Given the description of an element on the screen output the (x, y) to click on. 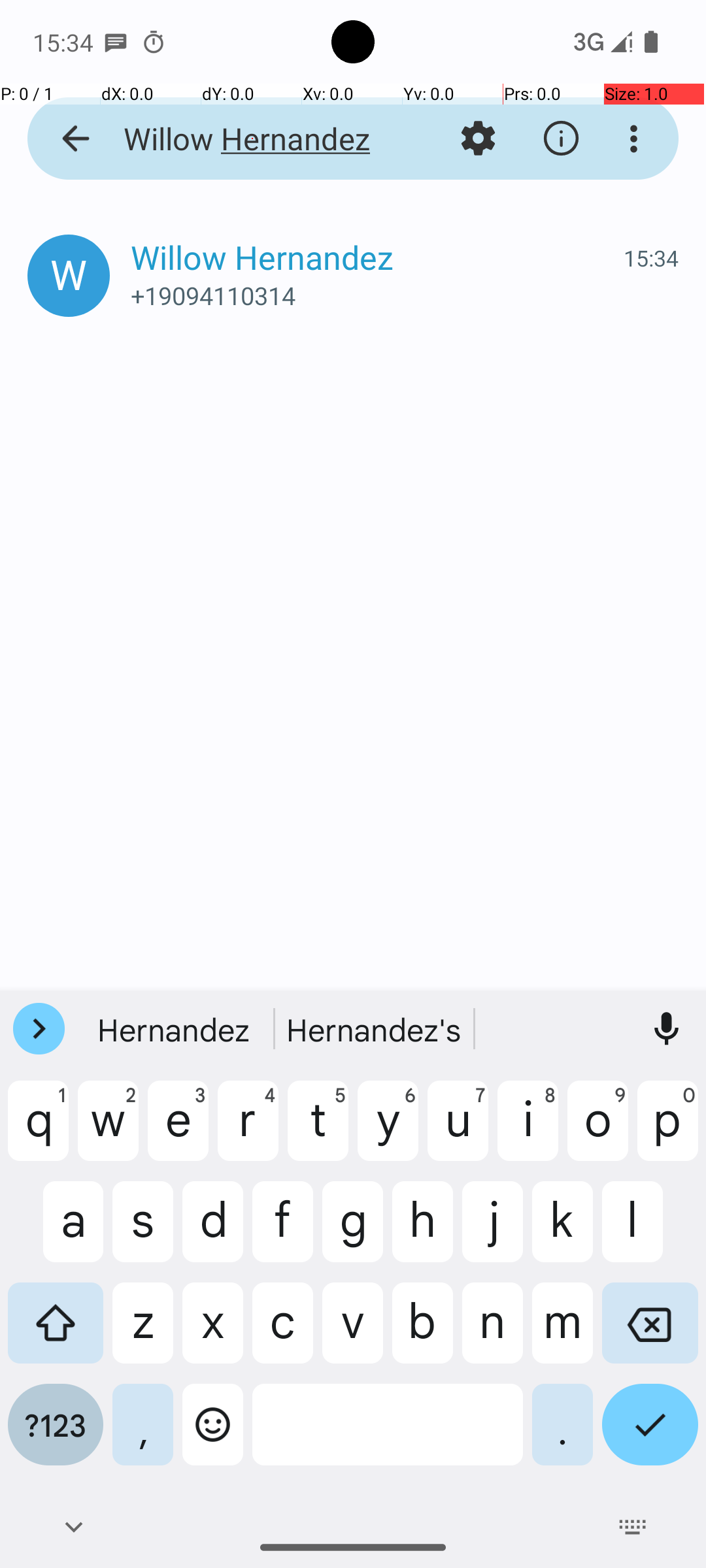
Willow Hernandez Element type: android.widget.EditText (252, 138)
+19094110314 Element type: android.widget.TextView (404, 295)
789 E Oak St, Phoenix AZ 85006 Element type: android.widget.TextView (408, 281)
Hernandez Element type: android.widget.FrameLayout (175, 1028)
Hernandez's Element type: android.widget.FrameLayout (375, 1028)
SMS Messenger notification: Willow Hernandez Element type: android.widget.ImageView (115, 41)
